Given the description of an element on the screen output the (x, y) to click on. 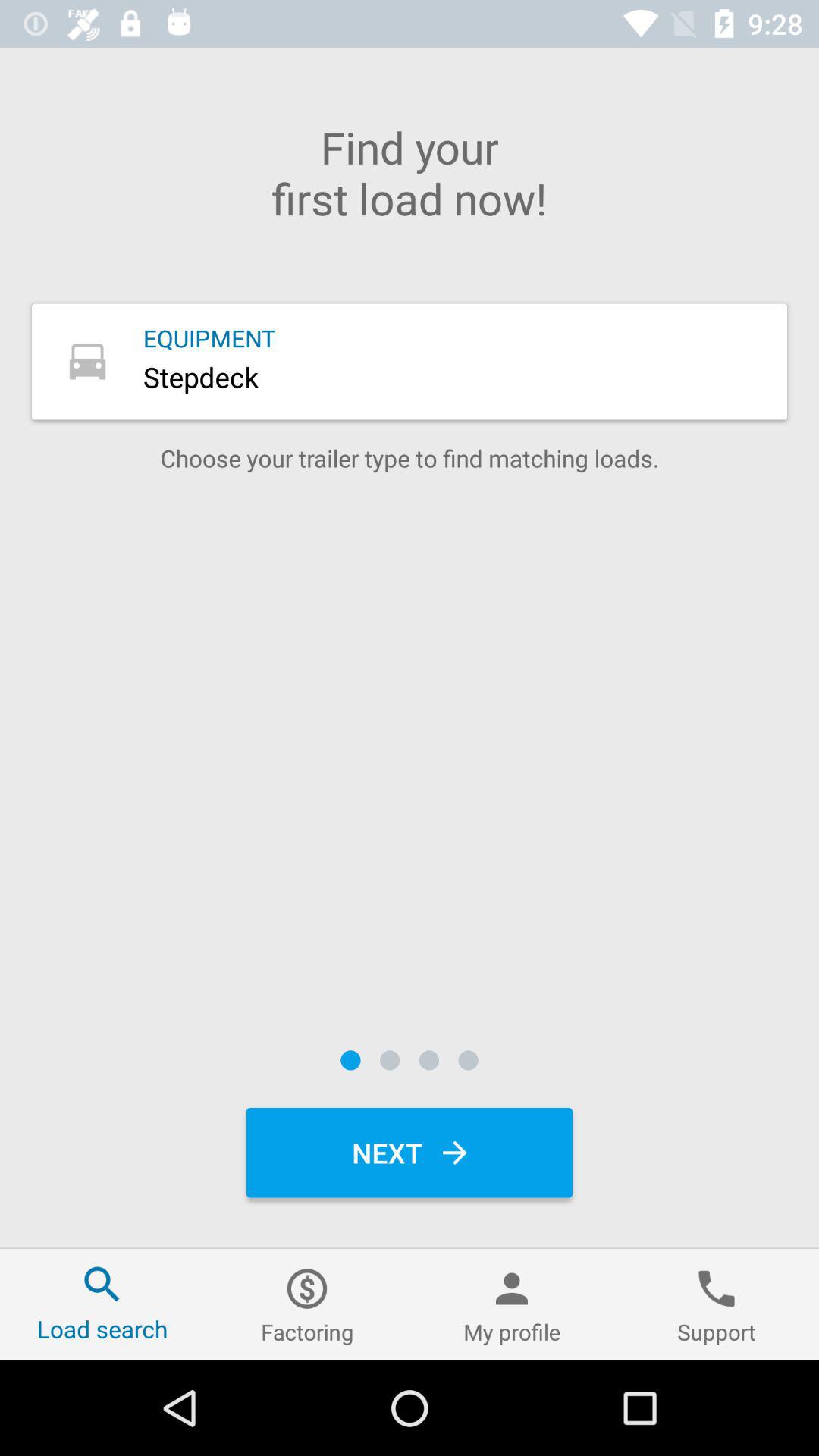
tap the item to the left of the support (511, 1304)
